Given the description of an element on the screen output the (x, y) to click on. 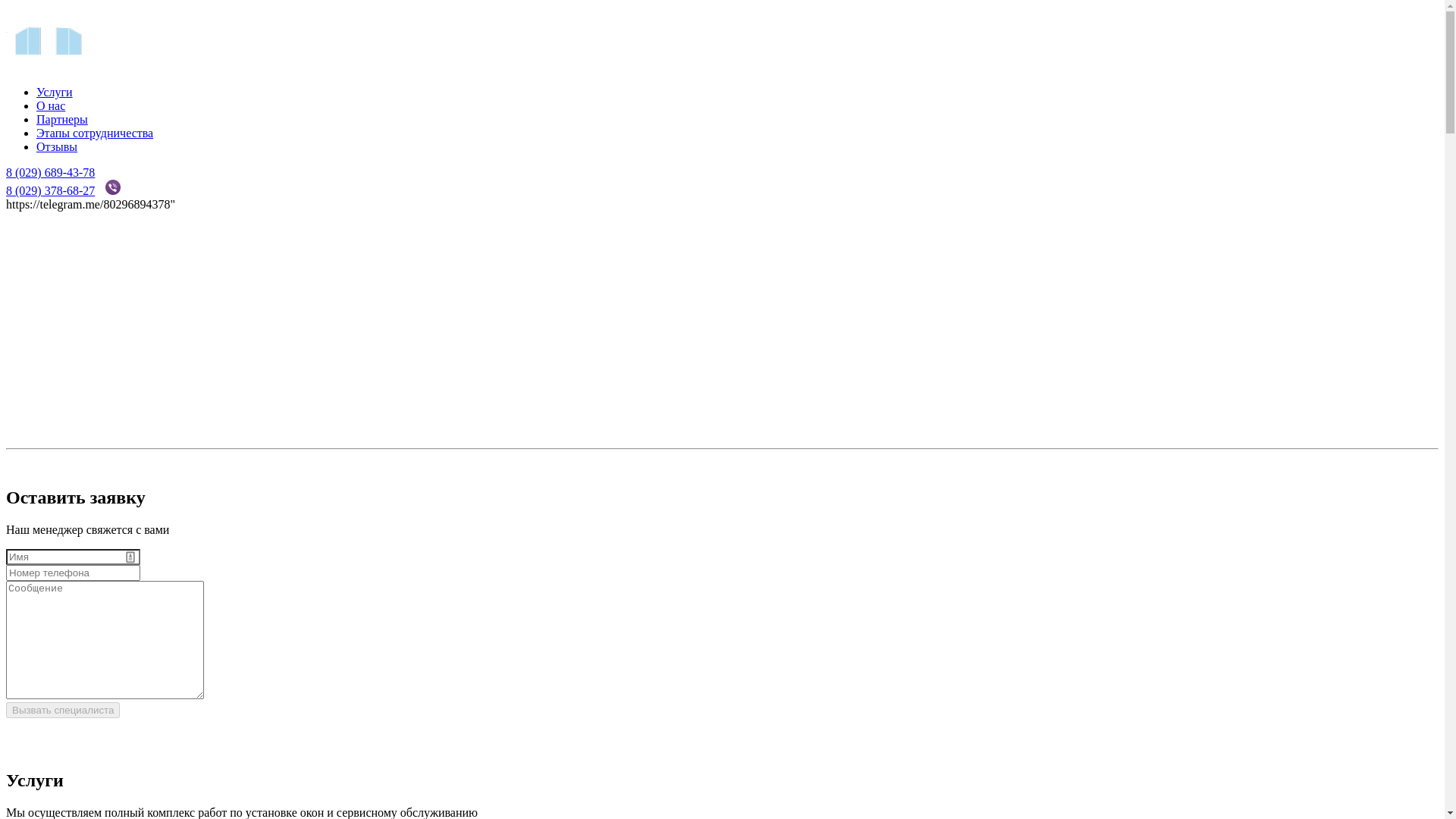
8 (029) 689-43-78 Element type: text (50, 172)
8 (029) 378-68-27 Element type: text (50, 190)
